Given the description of an element on the screen output the (x, y) to click on. 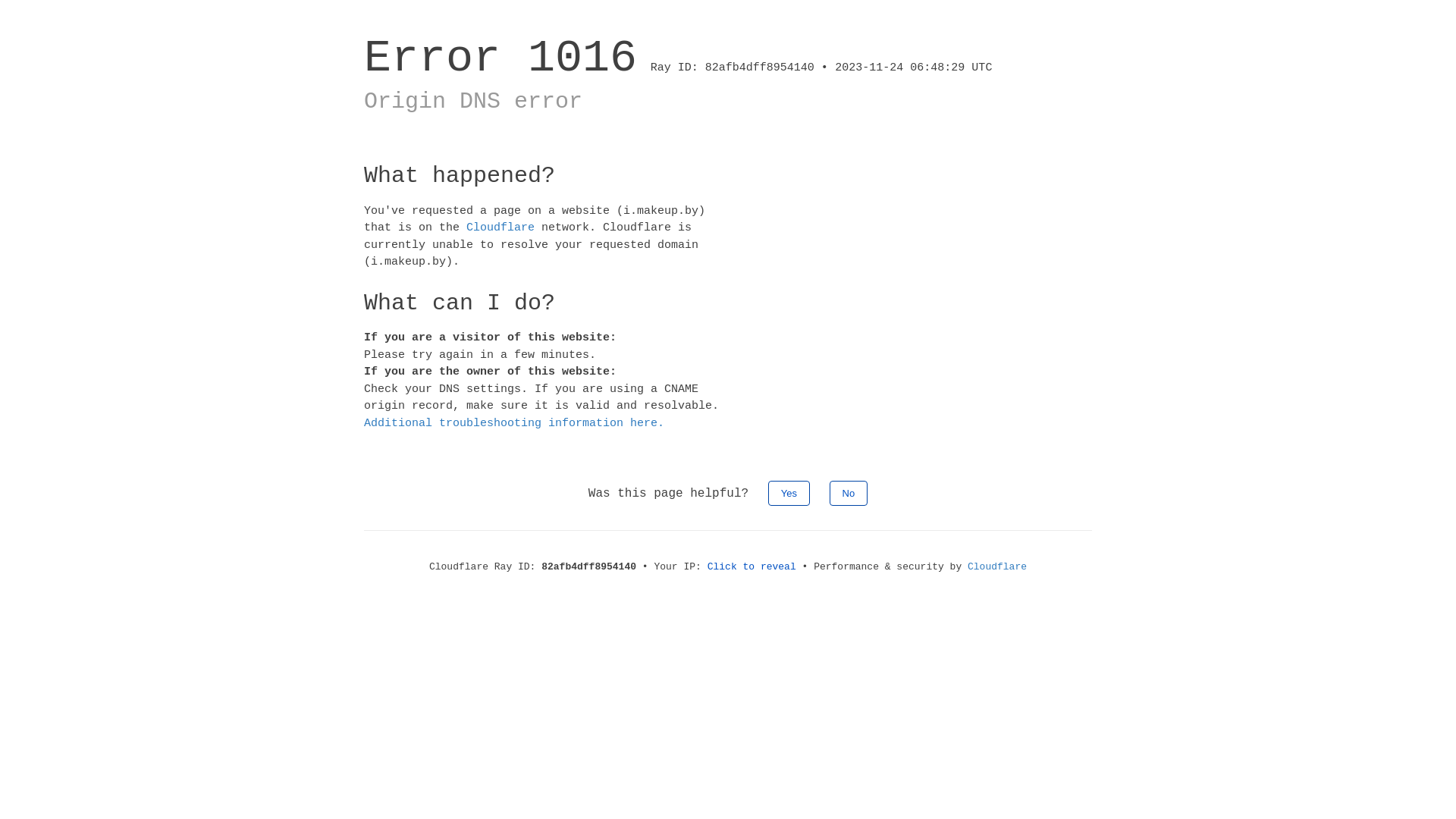
Yes Element type: text (788, 492)
No Element type: text (848, 492)
Additional troubleshooting information here. Element type: text (514, 423)
Cloudflare Element type: text (500, 227)
Cloudflare Element type: text (996, 566)
Click to reveal Element type: text (751, 566)
